Given the description of an element on the screen output the (x, y) to click on. 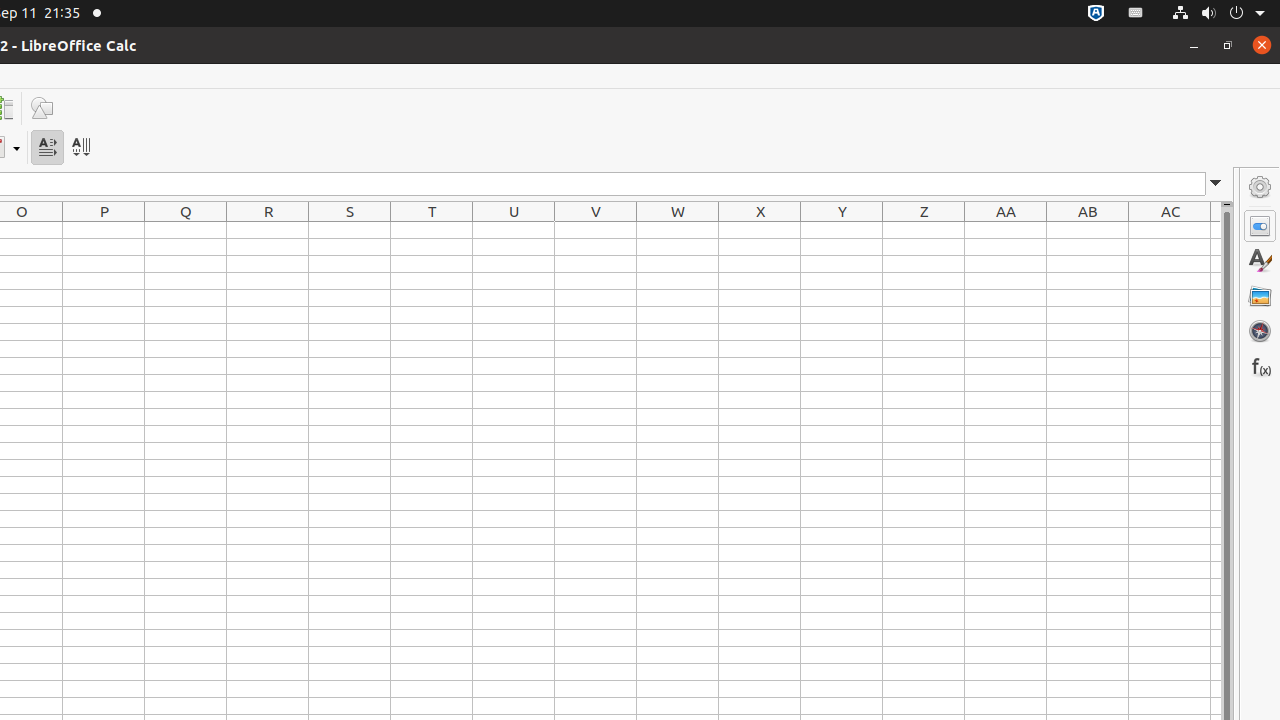
AD1 Element type: table-cell (1216, 230)
Functions Element type: radio-button (1260, 366)
AB1 Element type: table-cell (1088, 230)
AC1 Element type: table-cell (1170, 230)
Text direction from top to bottom Element type: toggle-button (80, 147)
